Given the description of an element on the screen output the (x, y) to click on. 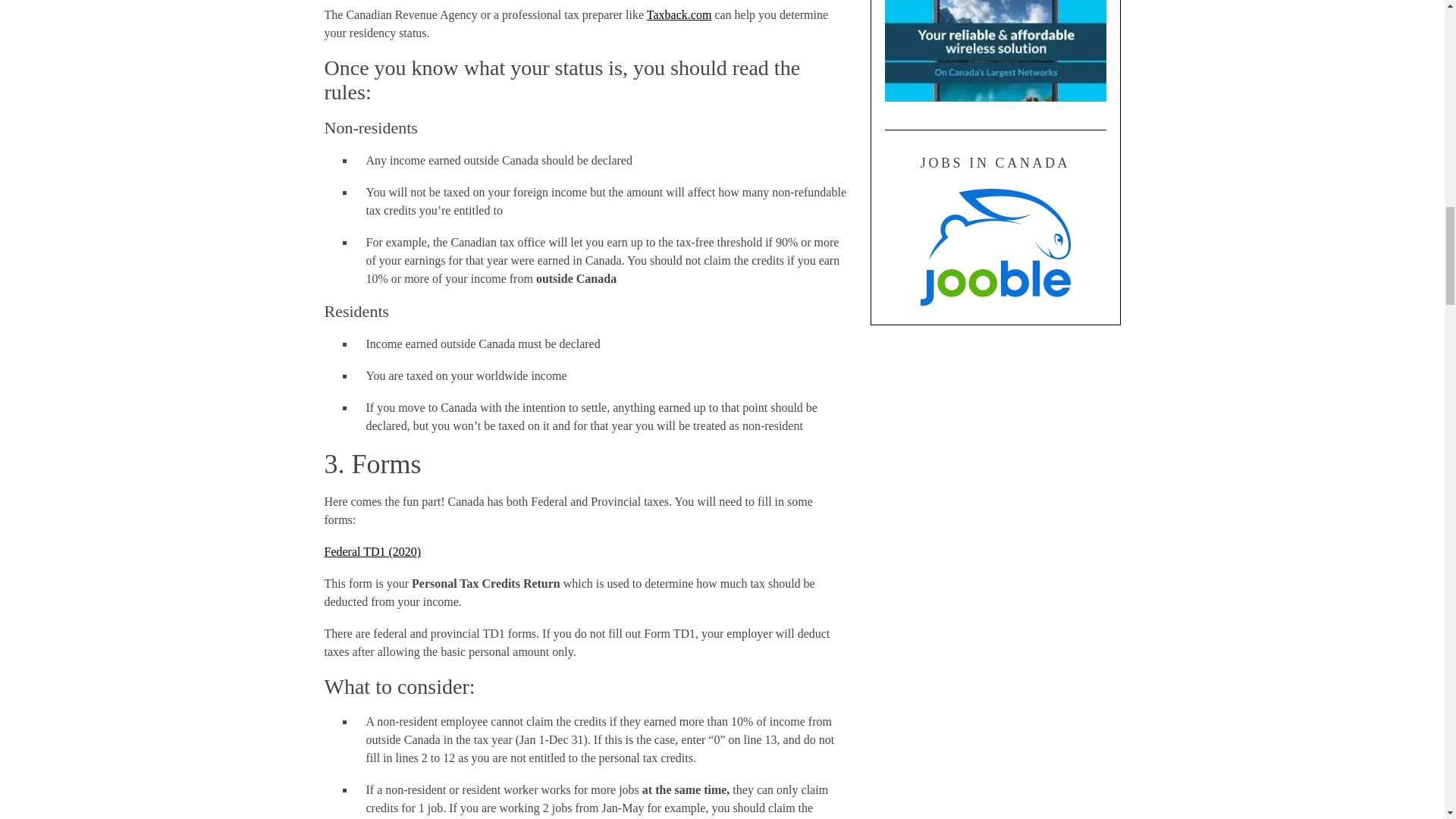
Go phonebox (994, 97)
